Given the description of an element on the screen output the (x, y) to click on. 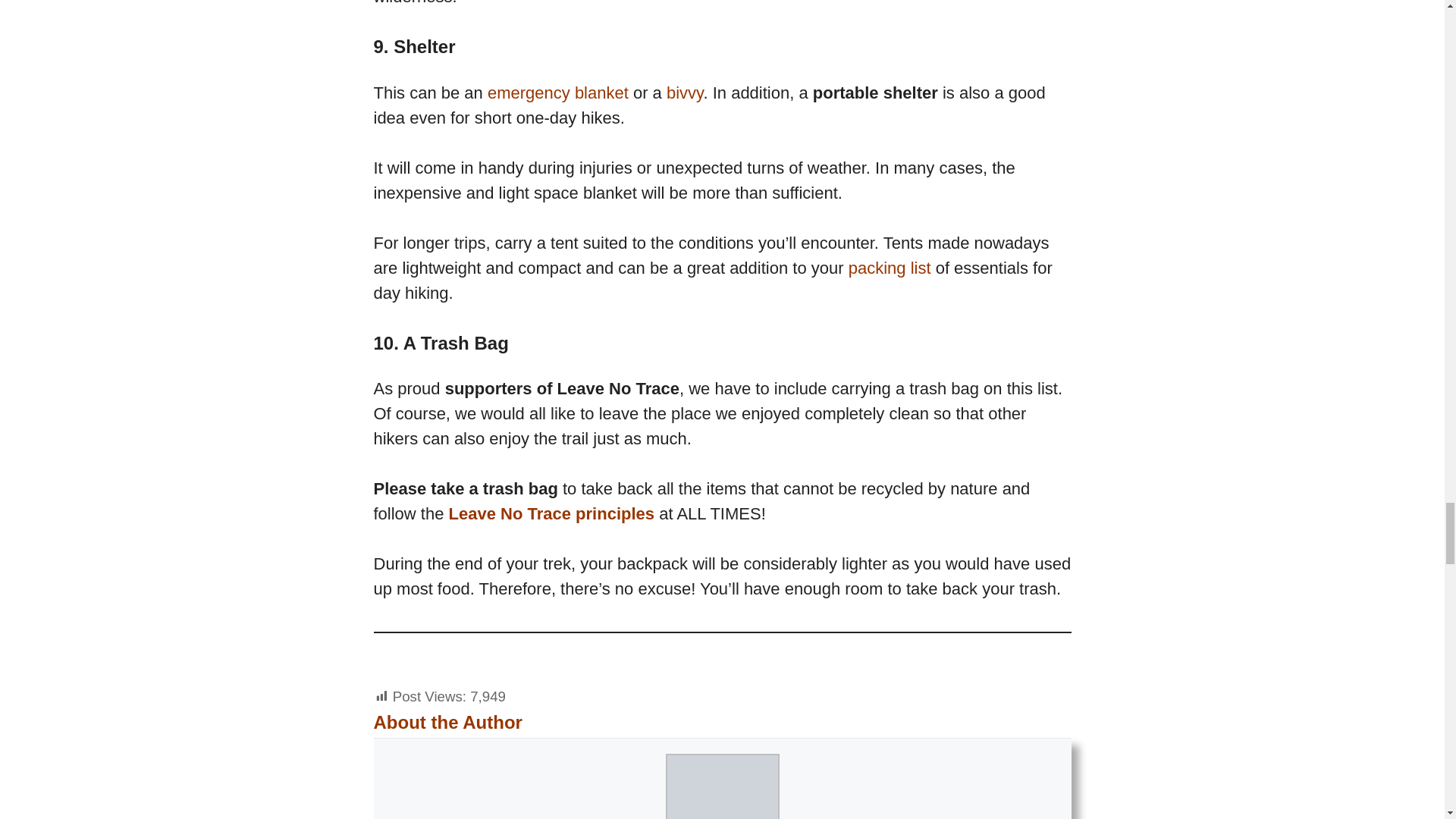
About the Author (446, 721)
bivvy (684, 92)
packing list (889, 267)
Leave No Trace principles (550, 513)
emergency blanket (557, 92)
